Given the description of an element on the screen output the (x, y) to click on. 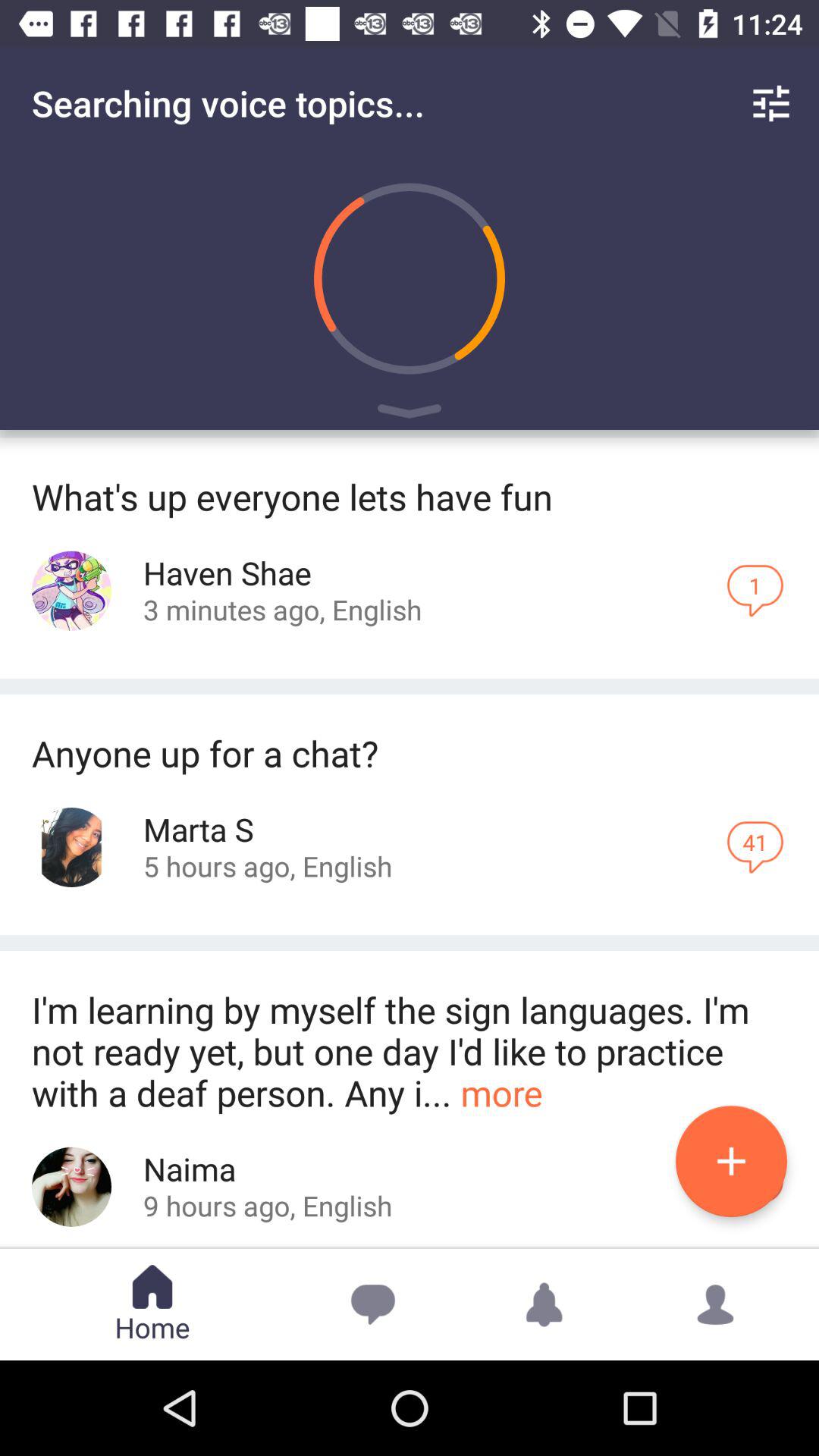
click on the plus button at the bottom of the page (731, 1161)
click on the text home (152, 1304)
click on the image in the second feed (71, 847)
click on the notification icon (544, 1305)
click on the symbol at the bottom right of the page (715, 1304)
